Given the description of an element on the screen output the (x, y) to click on. 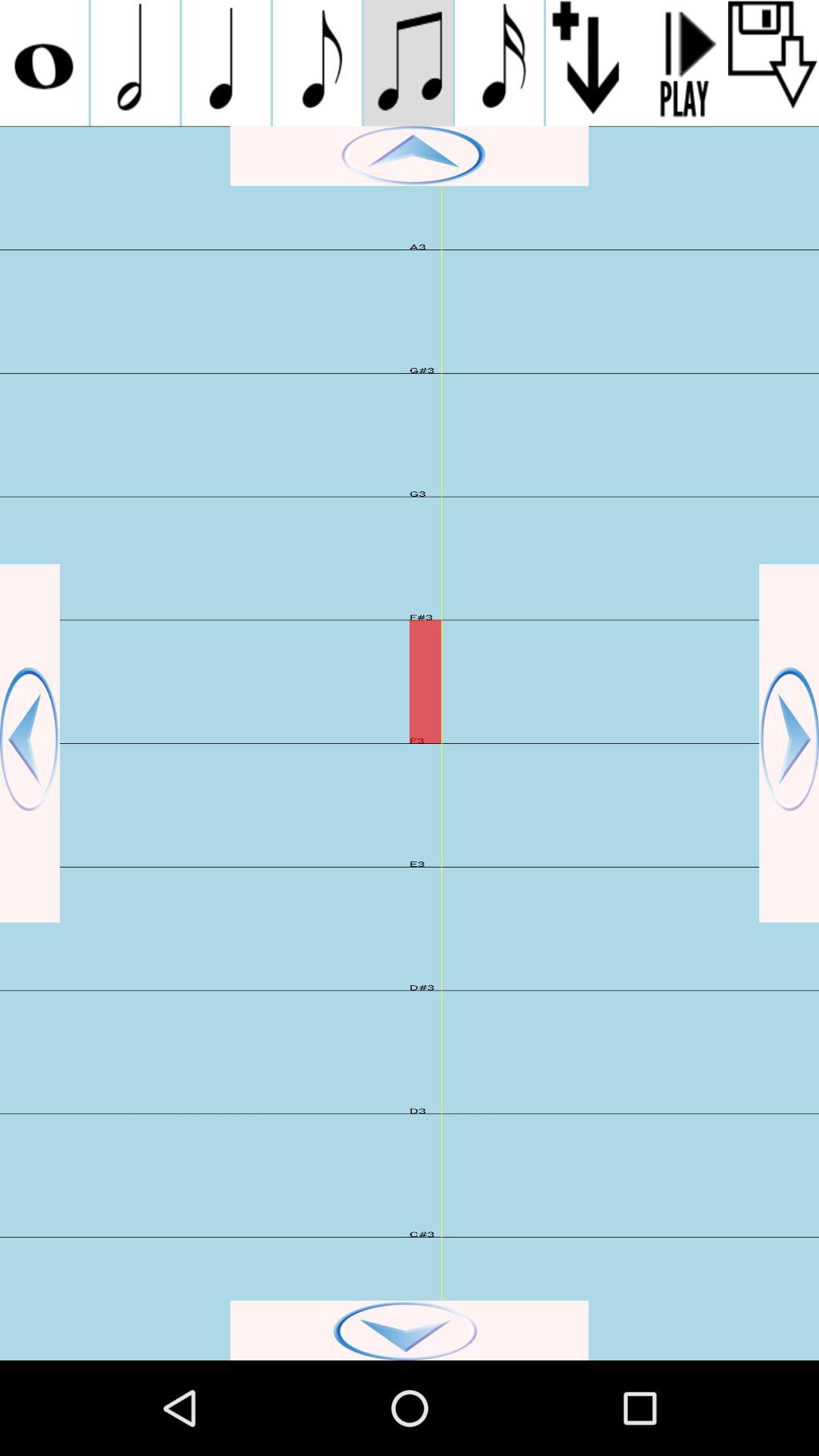
music tone (135, 63)
